Given the description of an element on the screen output the (x, y) to click on. 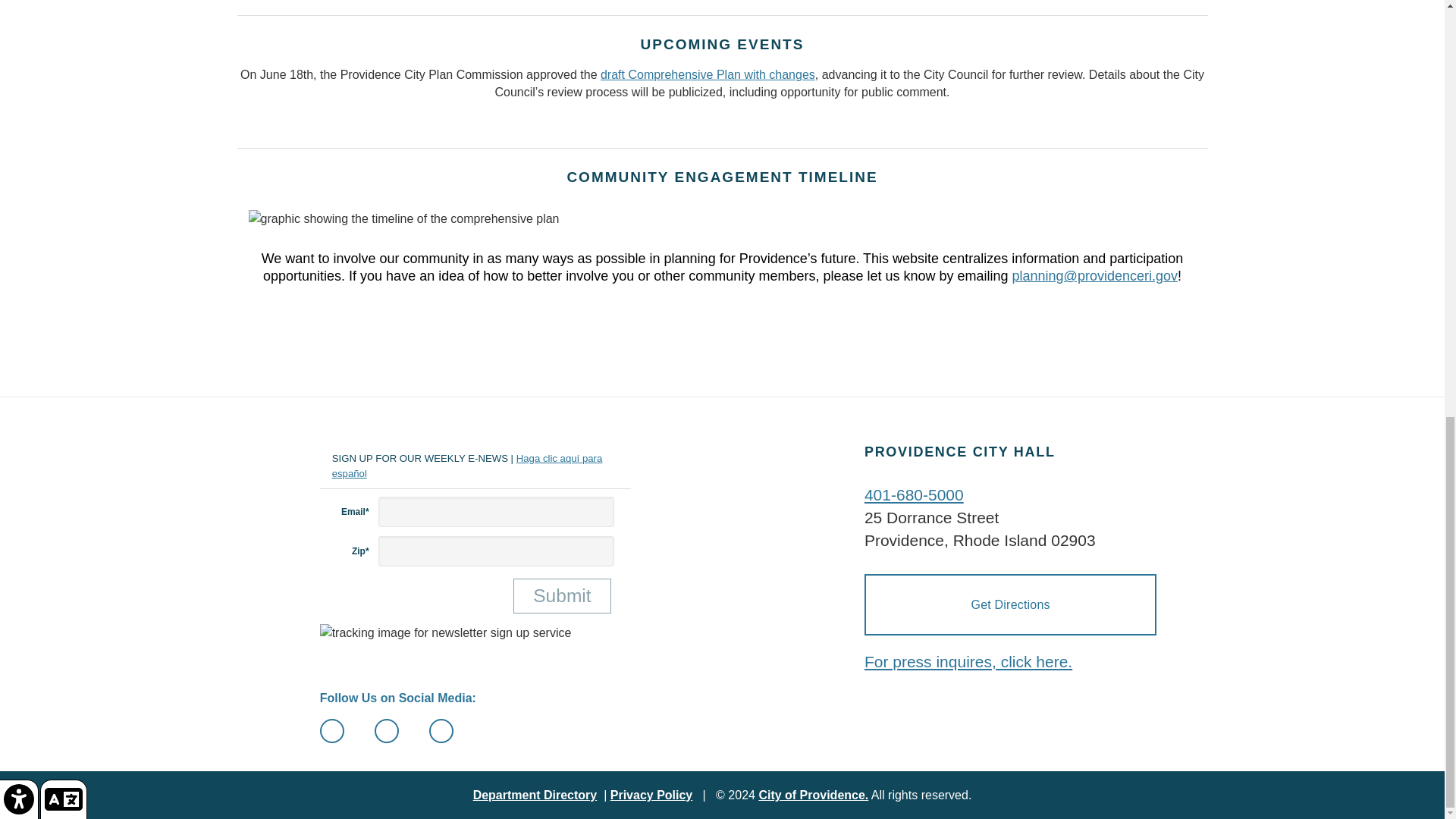
Submit (562, 596)
